Given the description of an element on the screen output the (x, y) to click on. 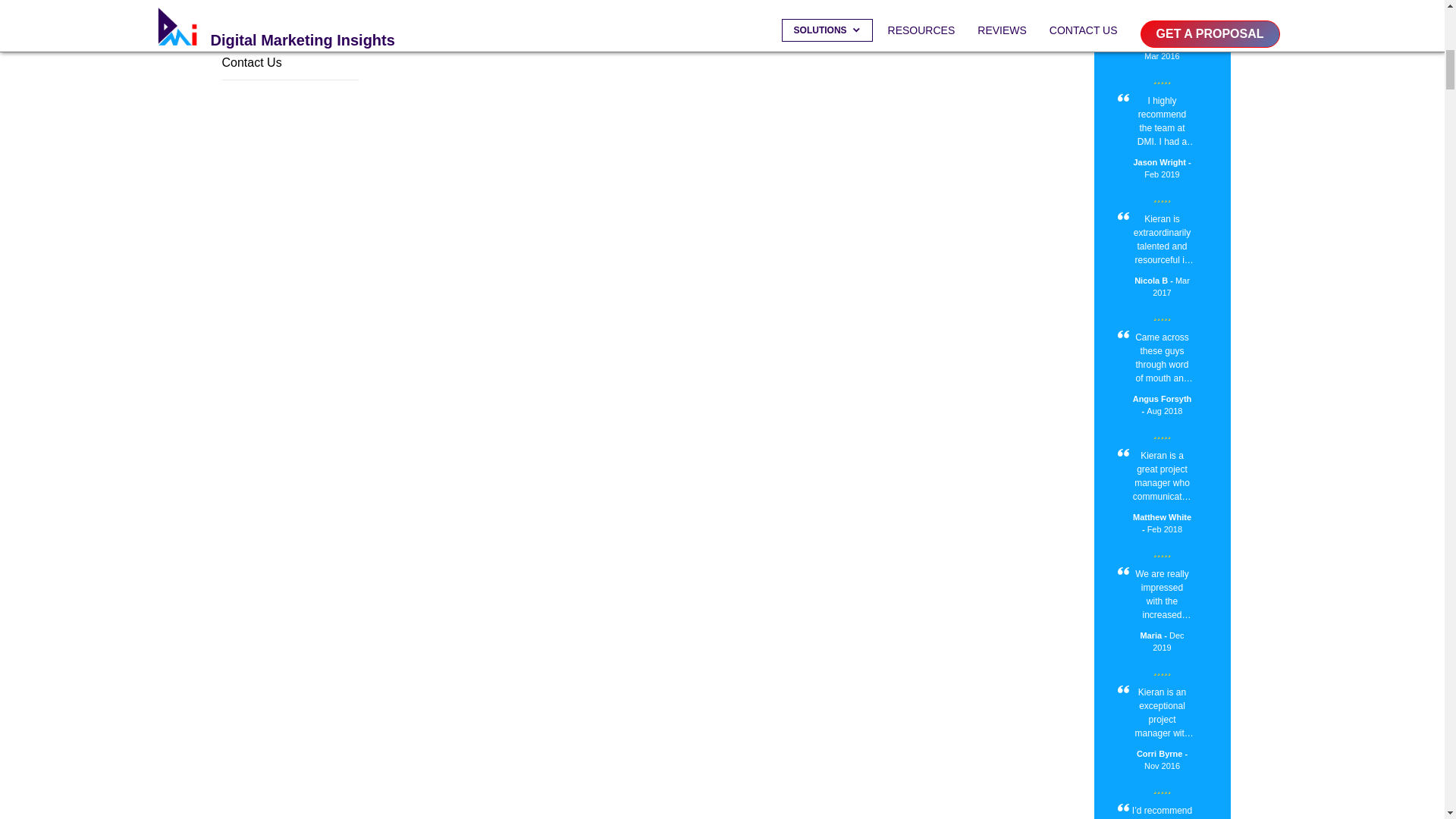
Resources (289, 6)
Reviews (289, 32)
Contact Us (289, 67)
